Given the description of an element on the screen output the (x, y) to click on. 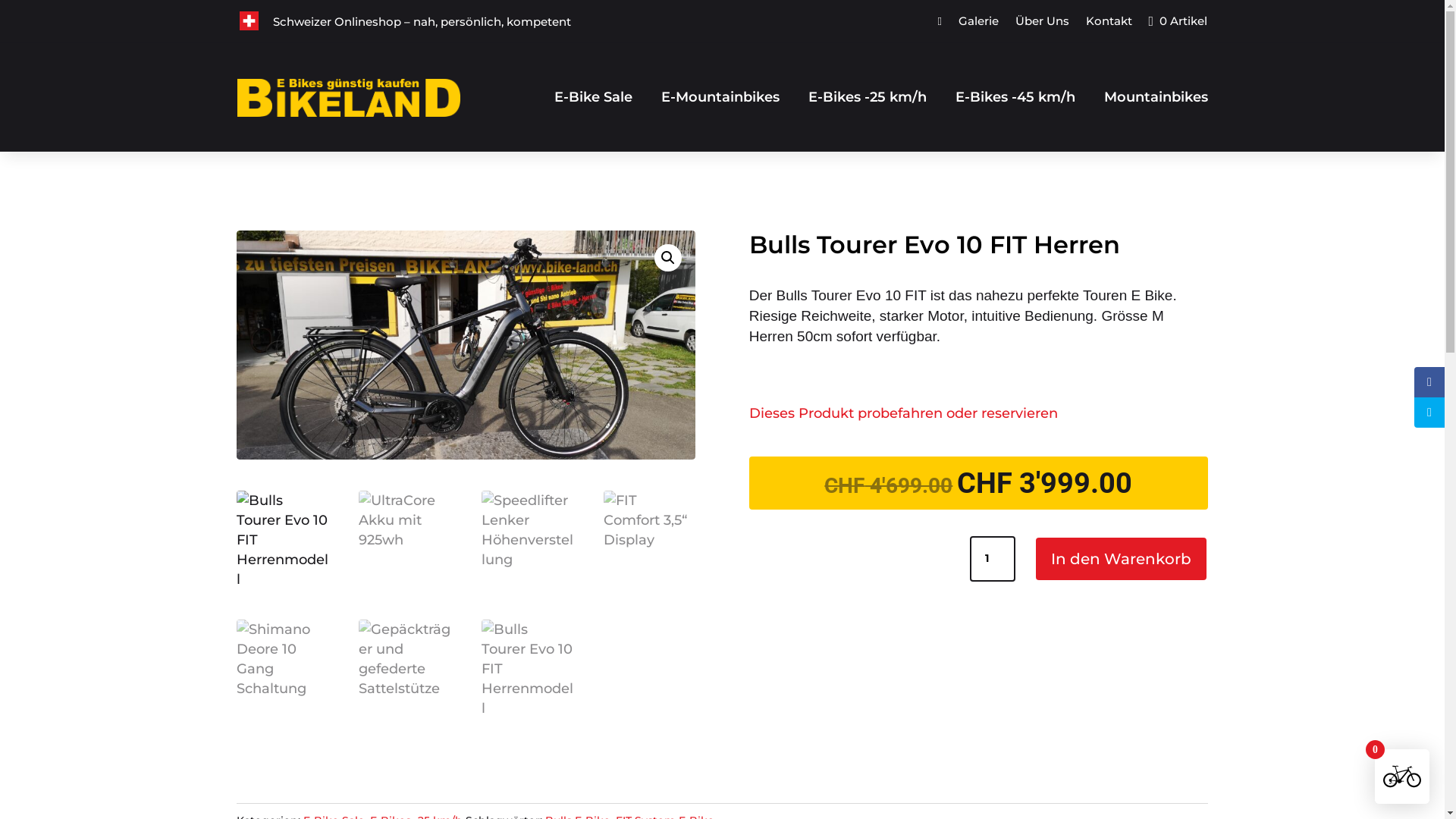
Kontakt Element type: text (1108, 24)
E-Bikes -45 km/h Element type: text (1015, 96)
E-Bikes -25 km/h Element type: text (867, 96)
Galerie Element type: text (978, 24)
E-Mountainbikes Element type: text (720, 96)
Bulls Tourer Evo 10 FIT Herren Element type: hover (465, 345)
In den Warenkorb Element type: text (1121, 558)
E-Bike Sale Element type: text (592, 96)
0 Artikel Element type: text (1177, 24)
Dieses Produkt probefahren oder reservieren Element type: text (903, 412)
0 Element type: text (1401, 776)
Mountainbikes Element type: text (1156, 96)
